Given the description of an element on the screen output the (x, y) to click on. 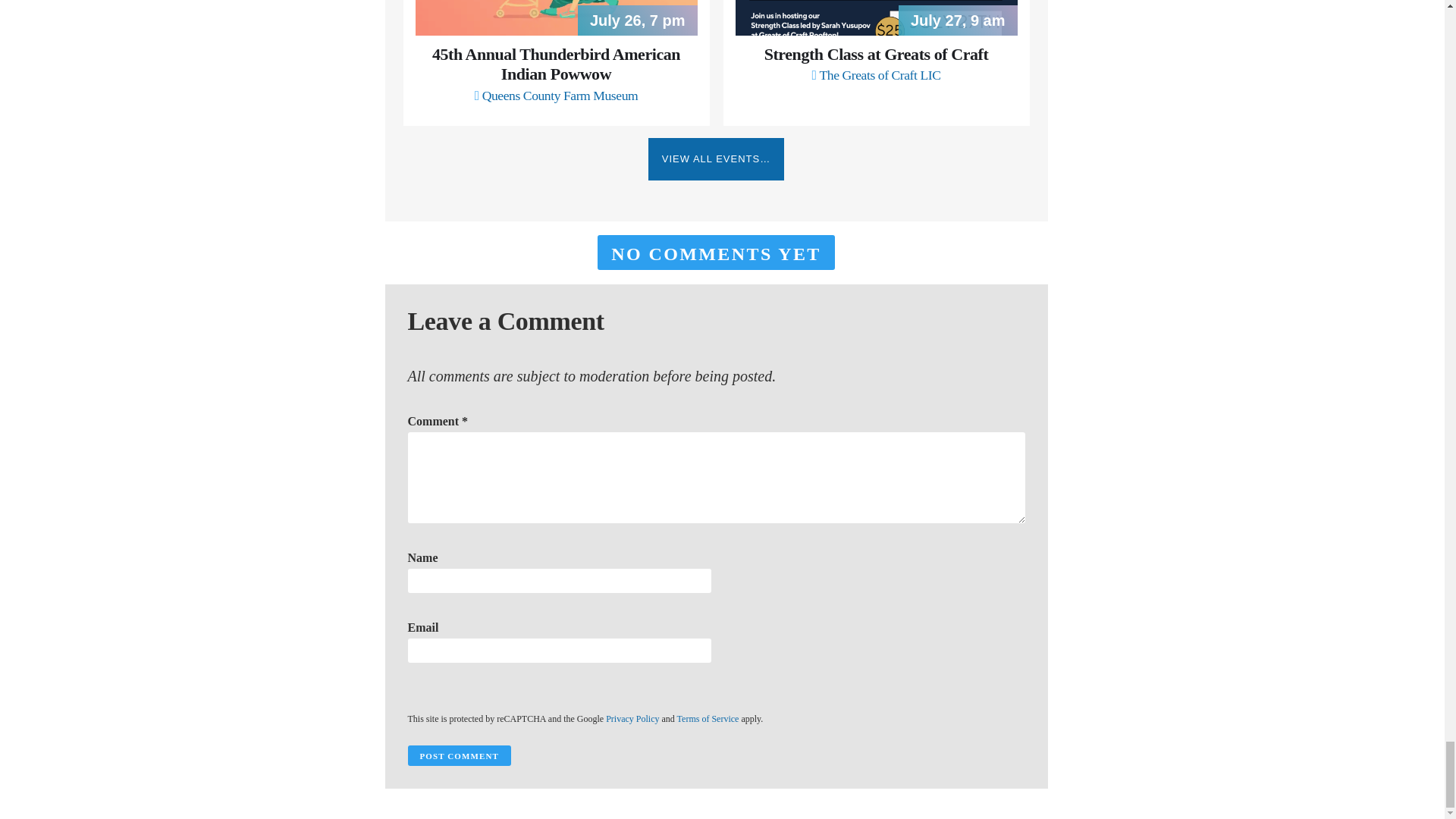
Please wait until Google reCAPTCHA is loaded. (459, 755)
Post Comment (459, 755)
